Given the description of an element on the screen output the (x, y) to click on. 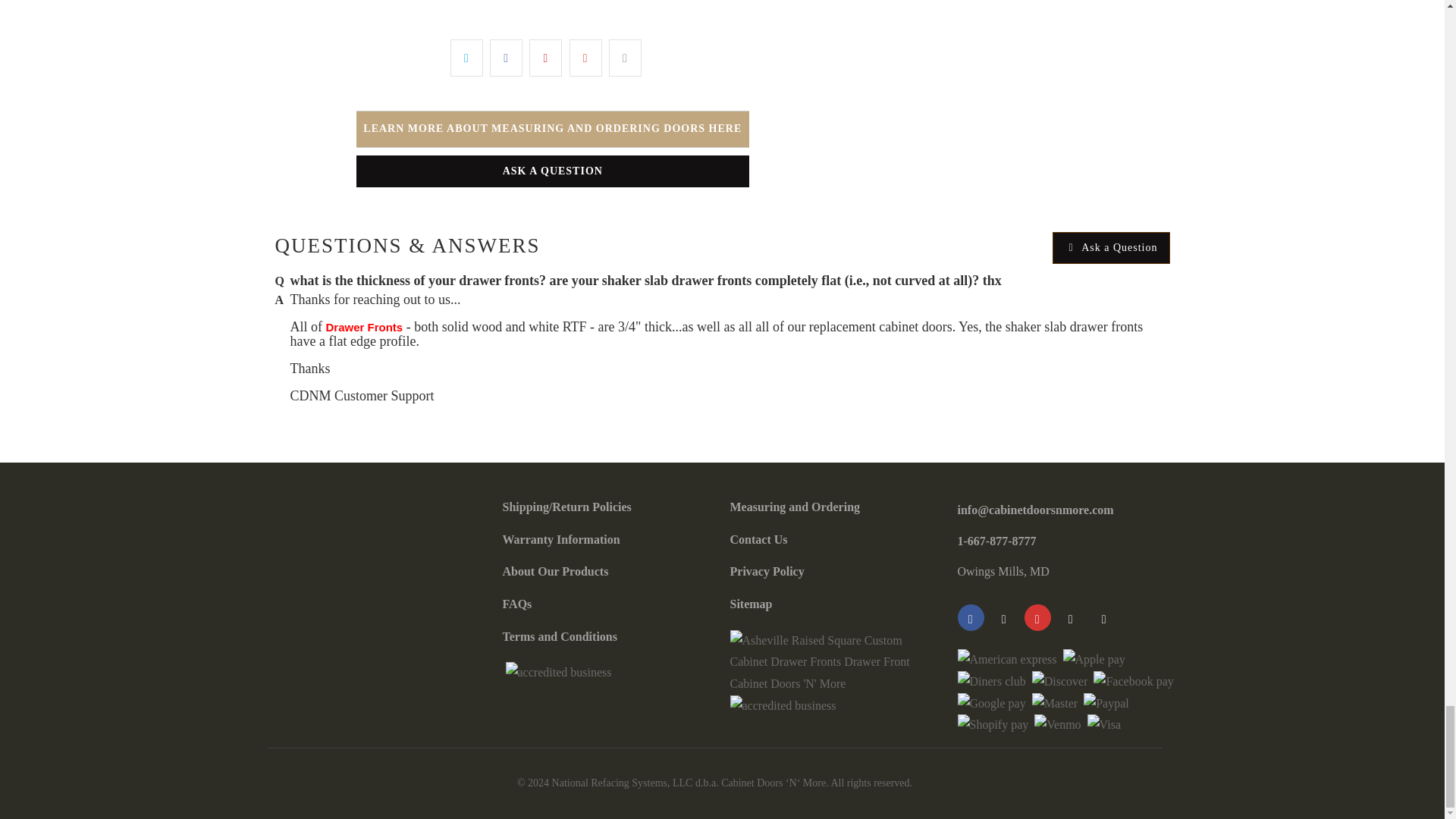
Cabinet Doors 'N' More on Facebook (970, 617)
tel:1-667-877-8777 (995, 540)
